Given the description of an element on the screen output the (x, y) to click on. 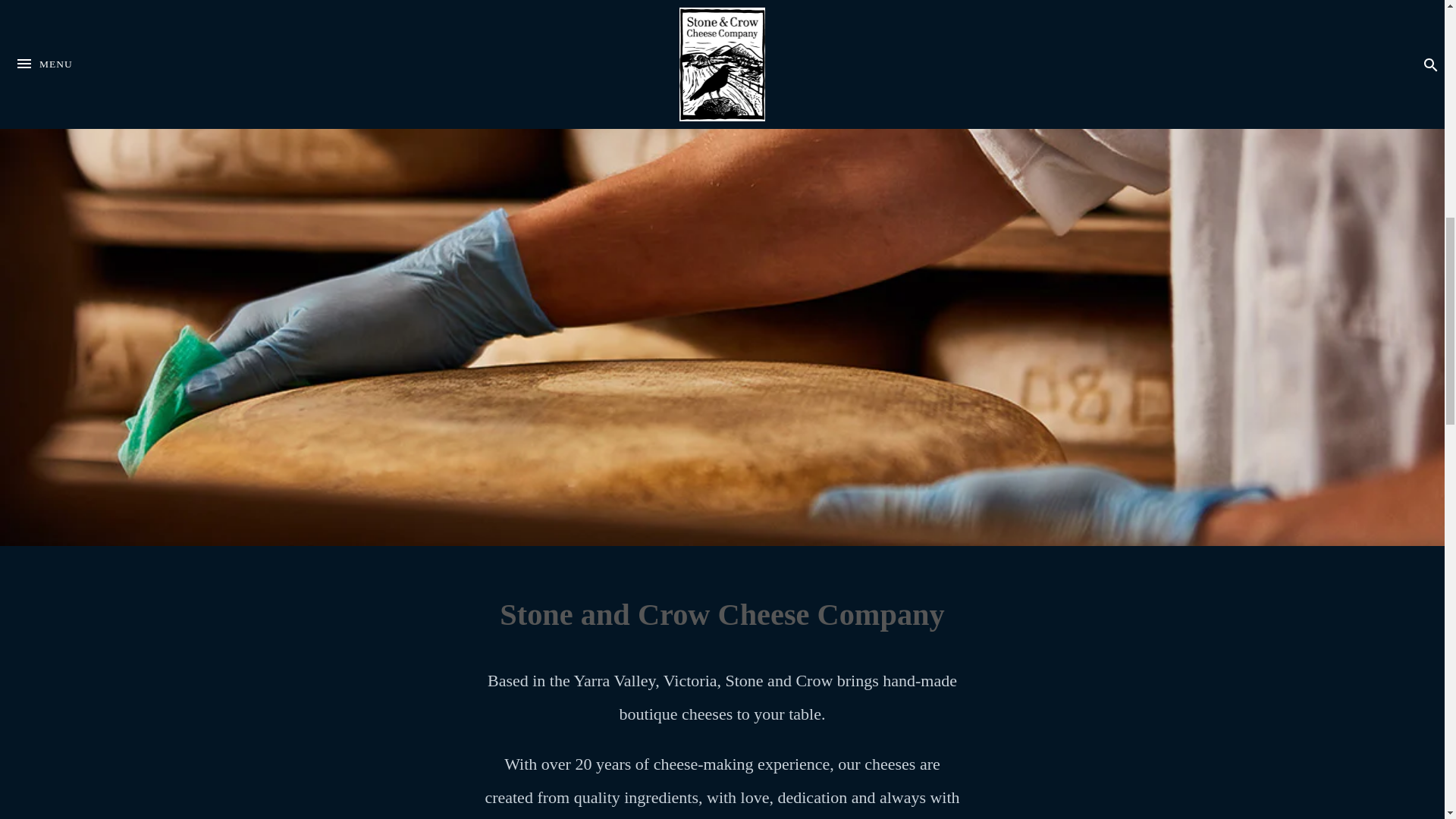
UP (1140, 36)
